Given the description of an element on the screen output the (x, y) to click on. 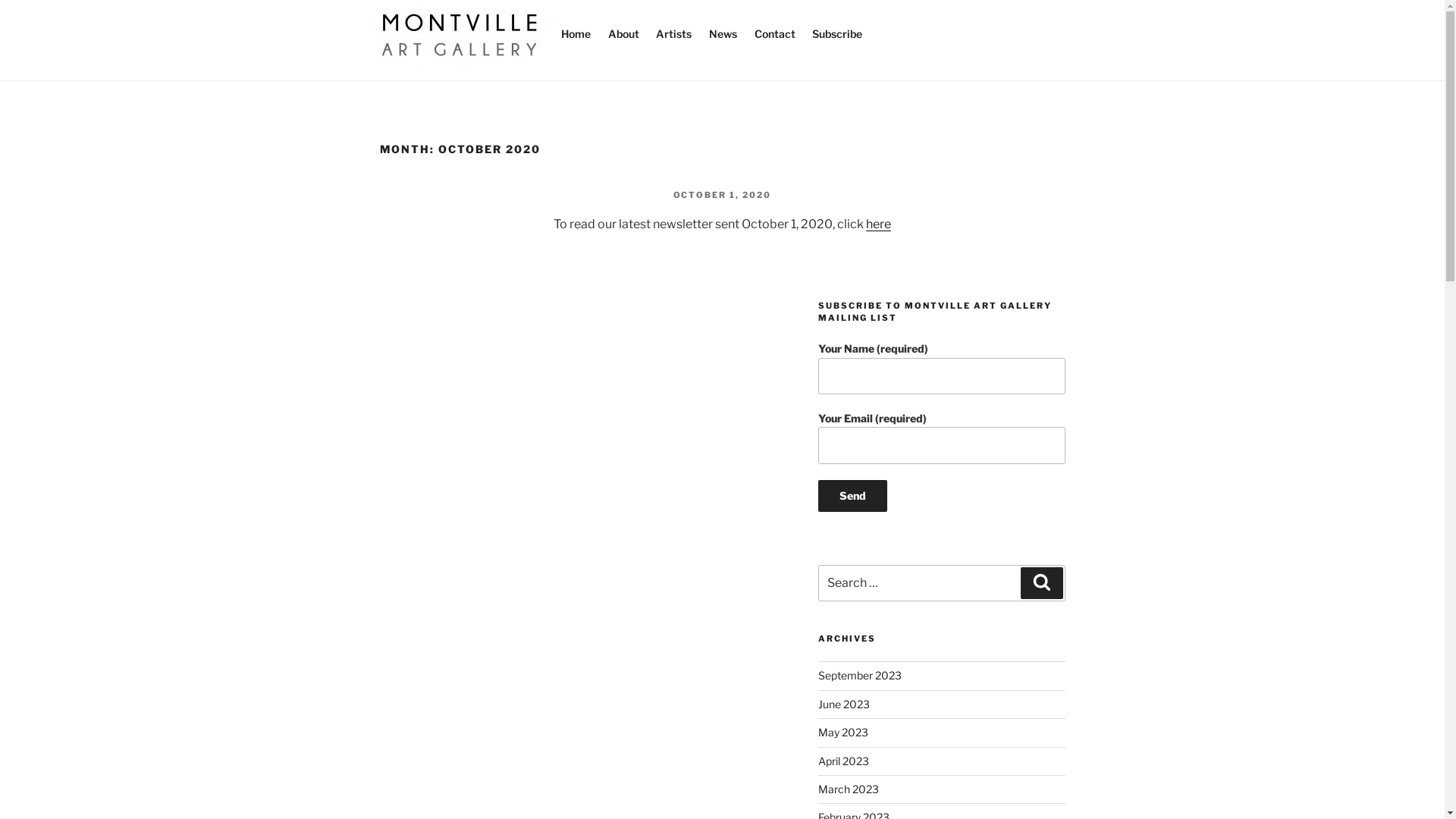
June 2023 Element type: text (843, 703)
OCTOBER 1, 2020 Element type: text (722, 194)
here Element type: text (878, 223)
Search Element type: text (1041, 583)
March 2023 Element type: text (848, 788)
Send Element type: text (852, 495)
April 2023 Element type: text (843, 760)
September 2023 Element type: text (859, 674)
May 2023 Element type: text (843, 731)
